Given the description of an element on the screen output the (x, y) to click on. 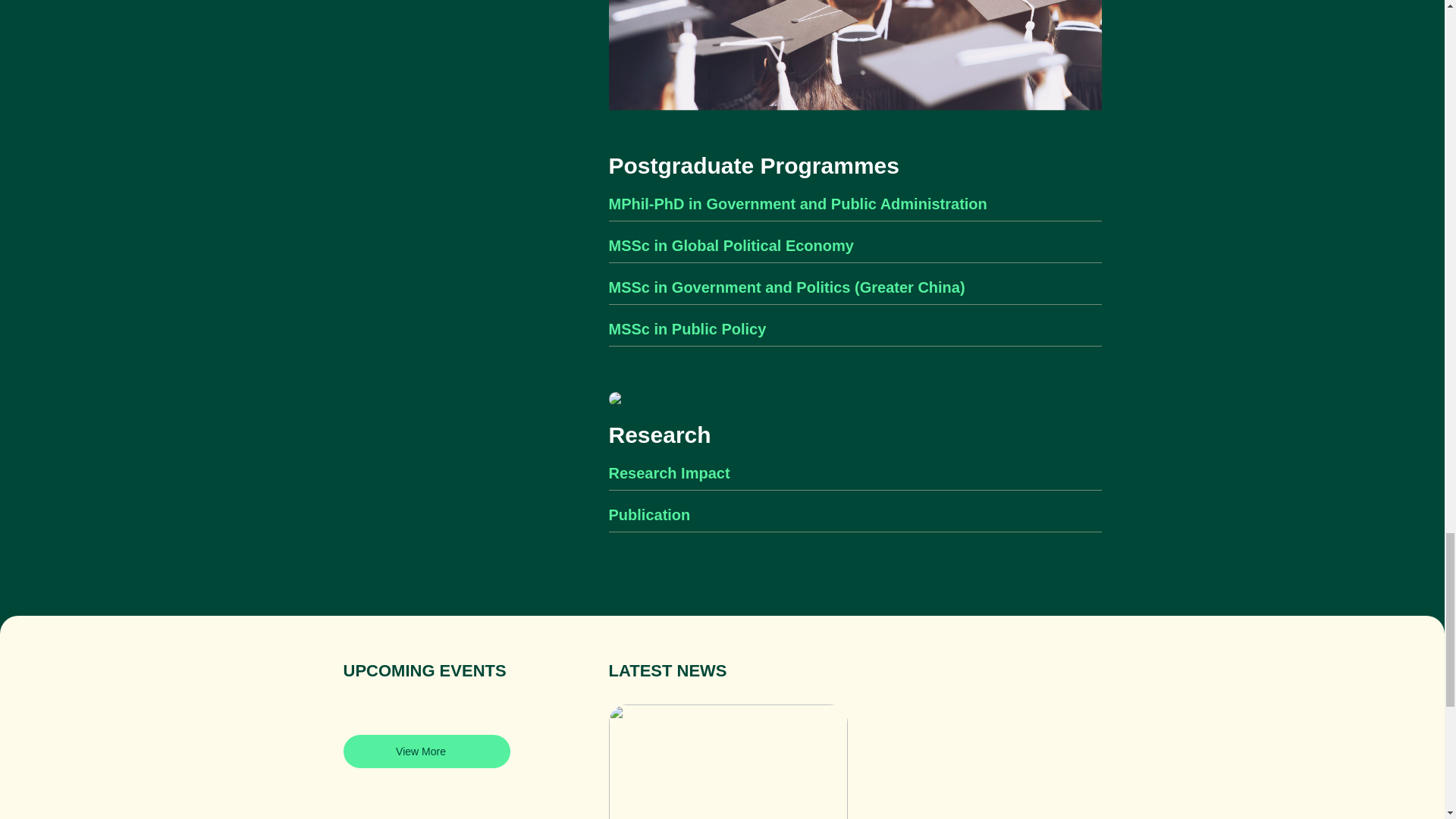
MSSc in Global Political Economy (854, 249)
MPhil-PhD in Government and Public Administration (854, 207)
Research Impact (854, 477)
MSSc in Public Policy (854, 333)
